Given the description of an element on the screen output the (x, y) to click on. 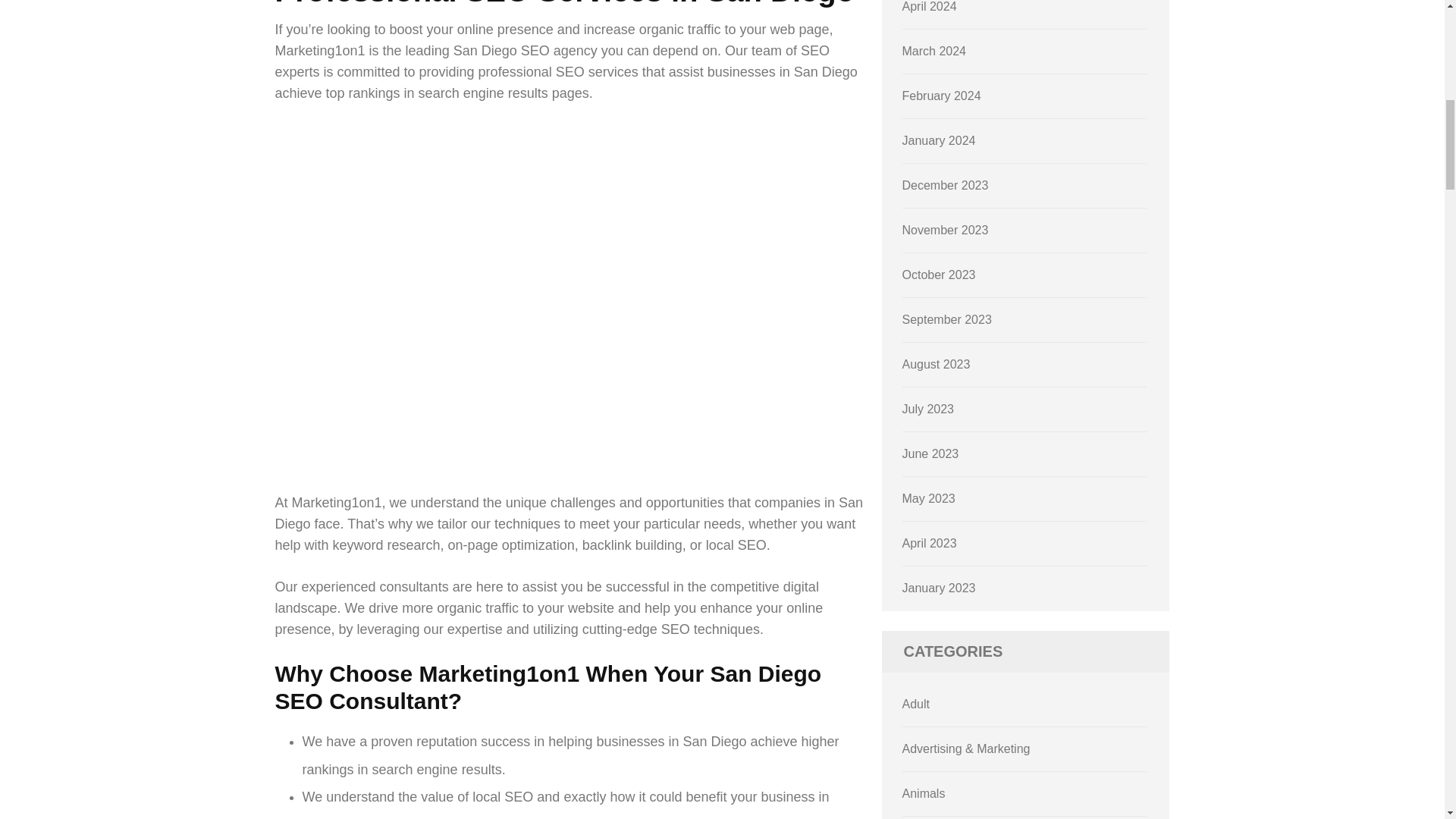
Adult (916, 703)
January 2024 (938, 140)
July 2023 (928, 408)
April 2024 (929, 6)
May 2023 (928, 498)
December 2023 (945, 185)
February 2024 (941, 95)
November 2023 (945, 229)
September 2023 (946, 318)
June 2023 (930, 453)
March 2024 (934, 51)
January 2023 (938, 587)
April 2023 (929, 543)
October 2023 (938, 274)
August 2023 (936, 364)
